Given the description of an element on the screen output the (x, y) to click on. 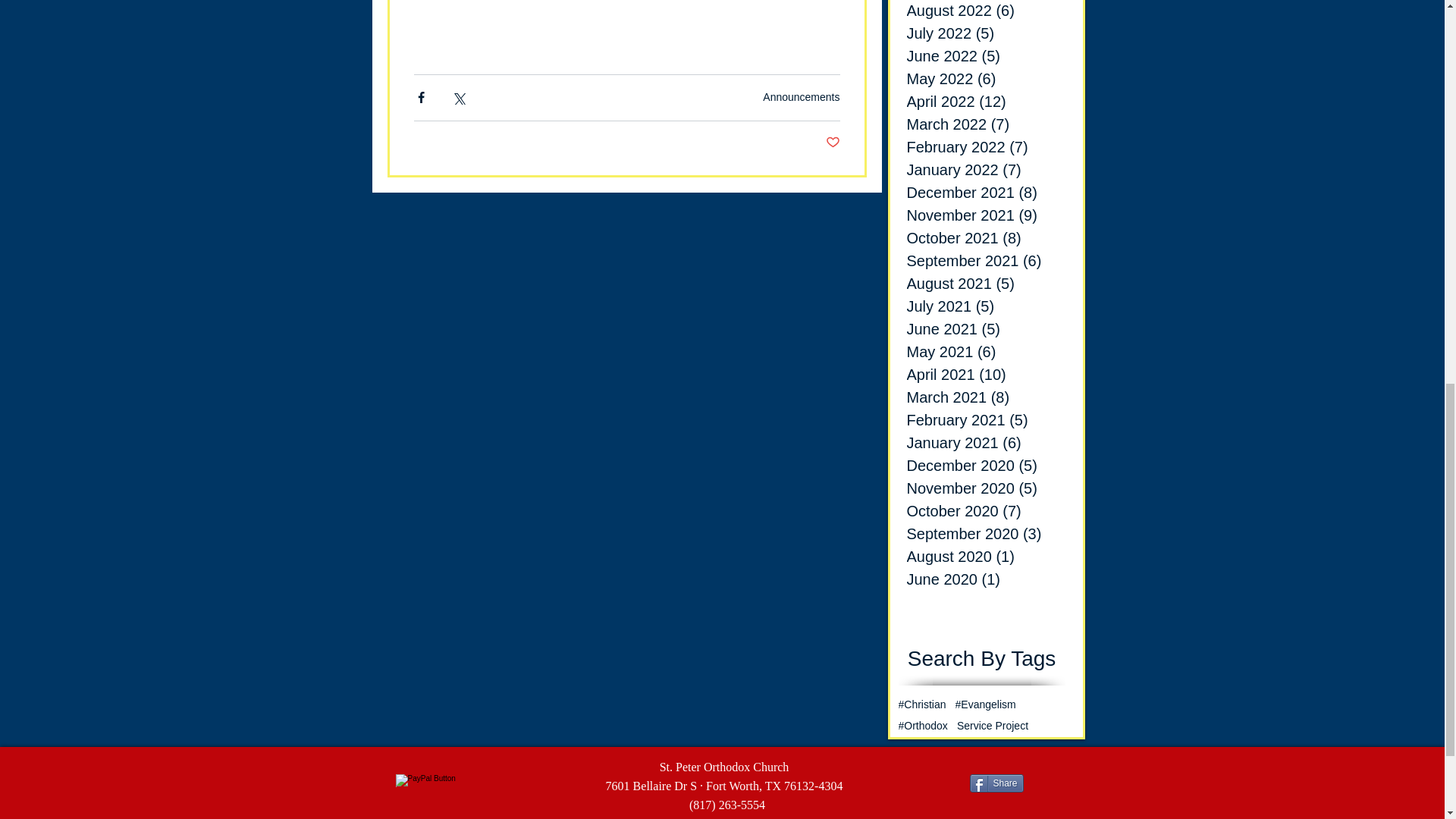
Post not marked as liked (832, 142)
Announcements (801, 96)
Share (996, 782)
